Given the description of an element on the screen output the (x, y) to click on. 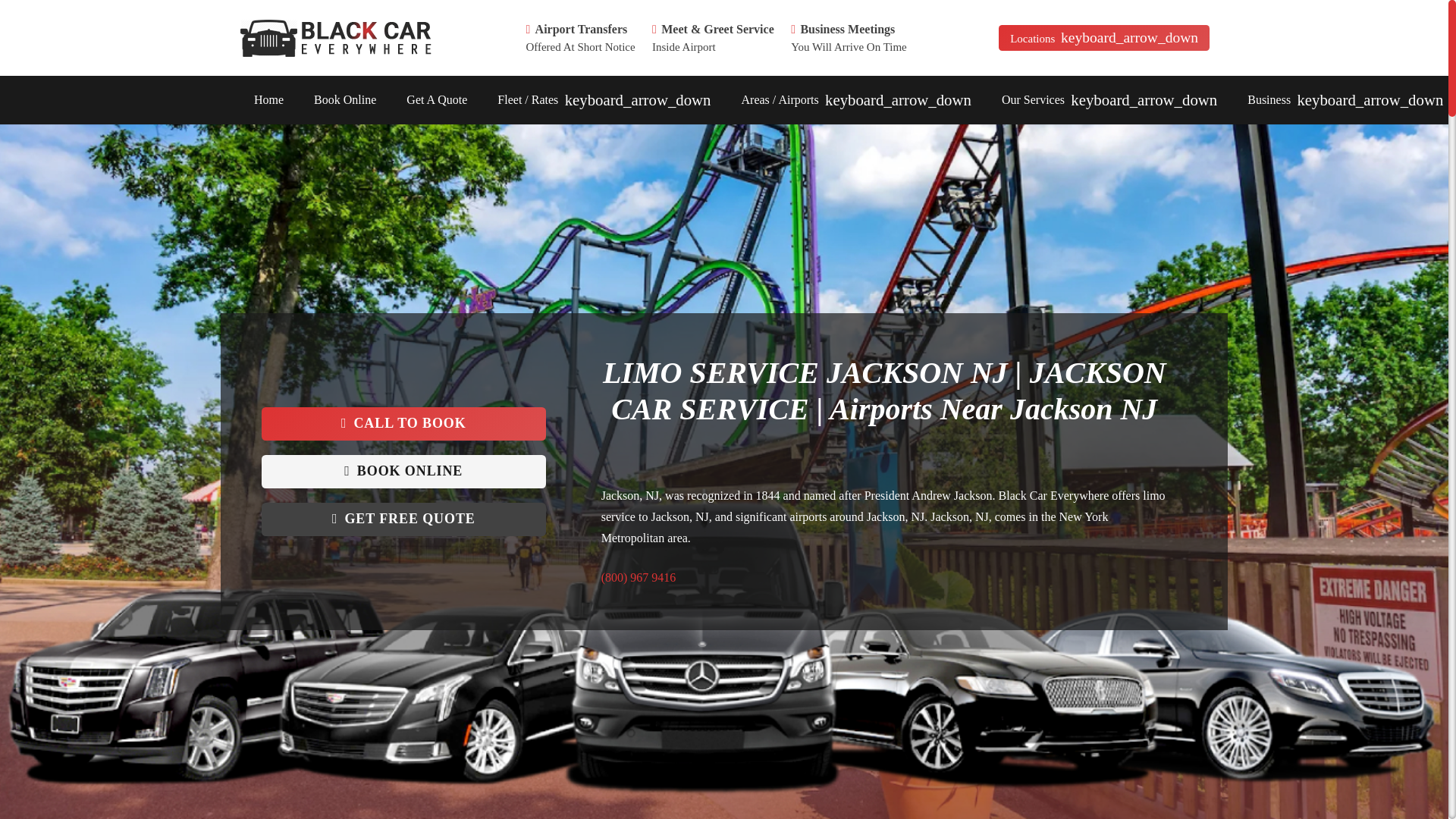
Locations (1103, 38)
